Given the description of an element on the screen output the (x, y) to click on. 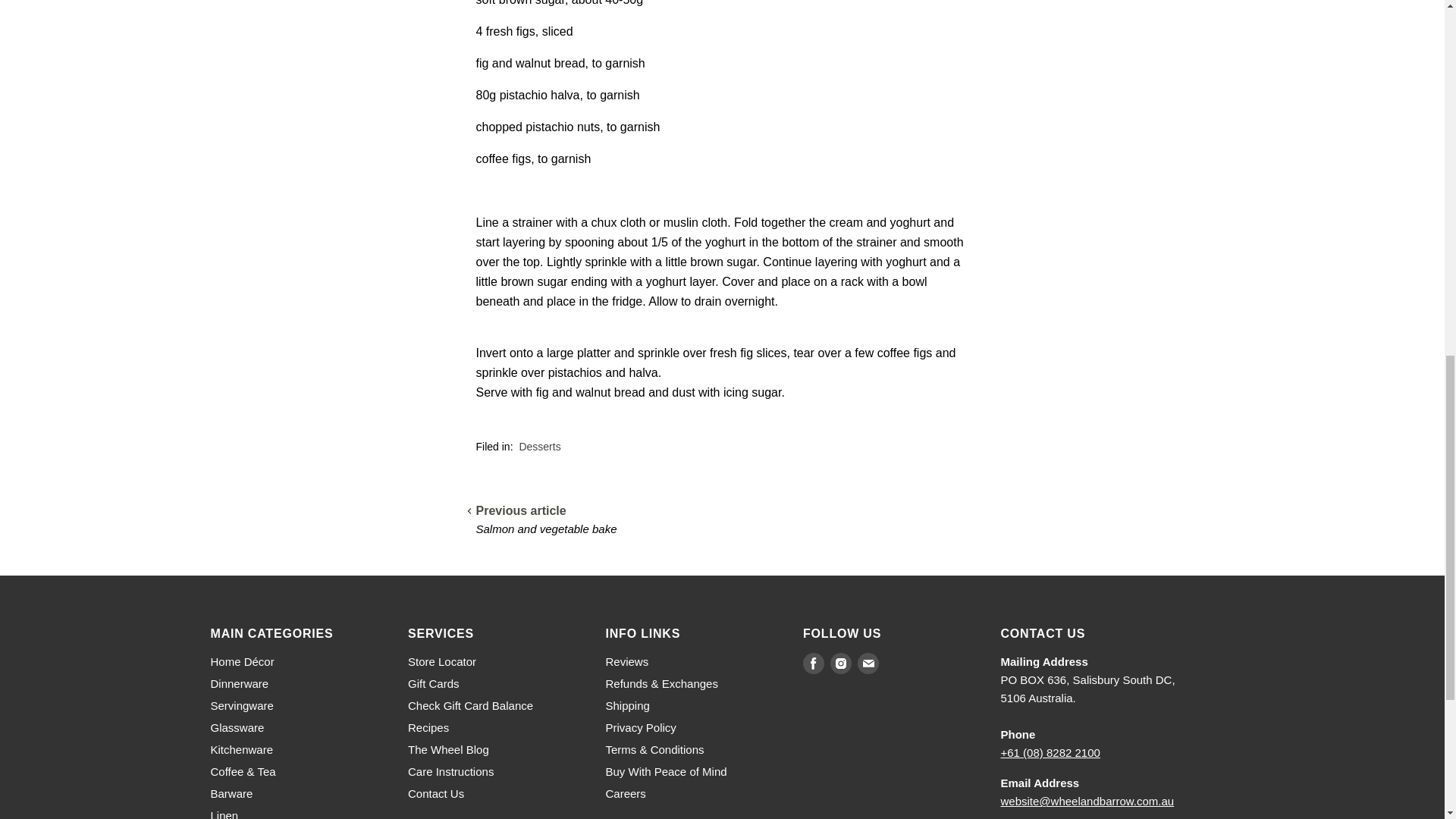
tel:0882822100 (1050, 752)
Email (868, 663)
Facebook (813, 663)
Show articles tagged Desserts (539, 446)
Instagram (840, 663)
